Given the description of an element on the screen output the (x, y) to click on. 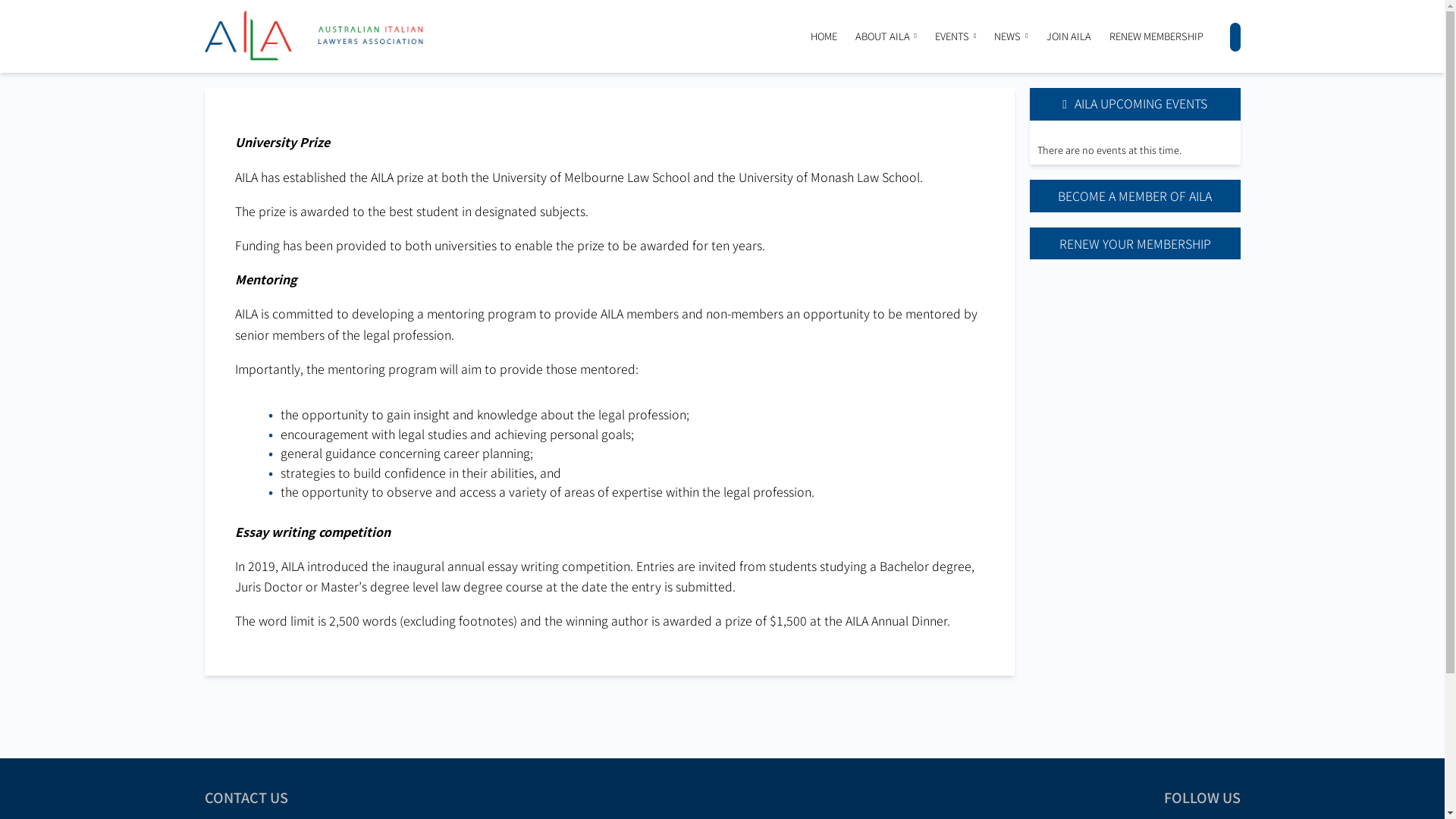
EVENTS Element type: text (952, 36)
RENEW MEMBERSHIP Element type: text (1155, 36)
ABOUT AILA Element type: text (882, 36)
HOME Element type: text (823, 36)
AILA UPCOMING EVENTS Element type: text (1134, 103)
JOIN AILA Element type: text (1068, 36)
NEWS Element type: text (1007, 36)
RENEW YOUR MEMBERSHIP Element type: text (1134, 243)
BECOME A MEMBER OF AILA Element type: text (1134, 195)
